Given the description of an element on the screen output the (x, y) to click on. 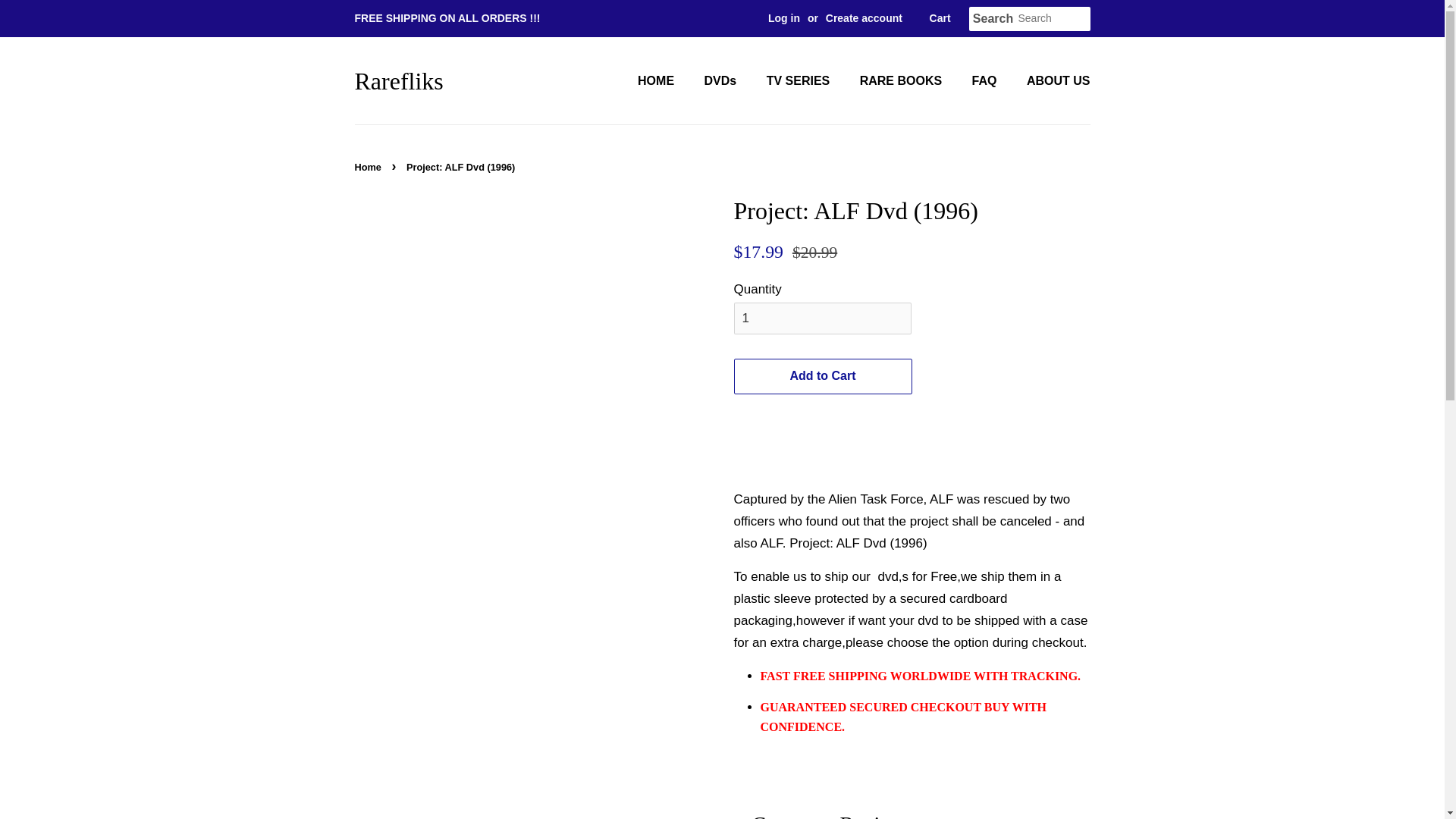
Rarefliks (399, 80)
1 (822, 318)
Create account (863, 18)
Search (993, 18)
Log in (783, 18)
DVDs (722, 80)
Back to the frontpage (370, 166)
Cart (940, 18)
HOME (662, 80)
